Given the description of an element on the screen output the (x, y) to click on. 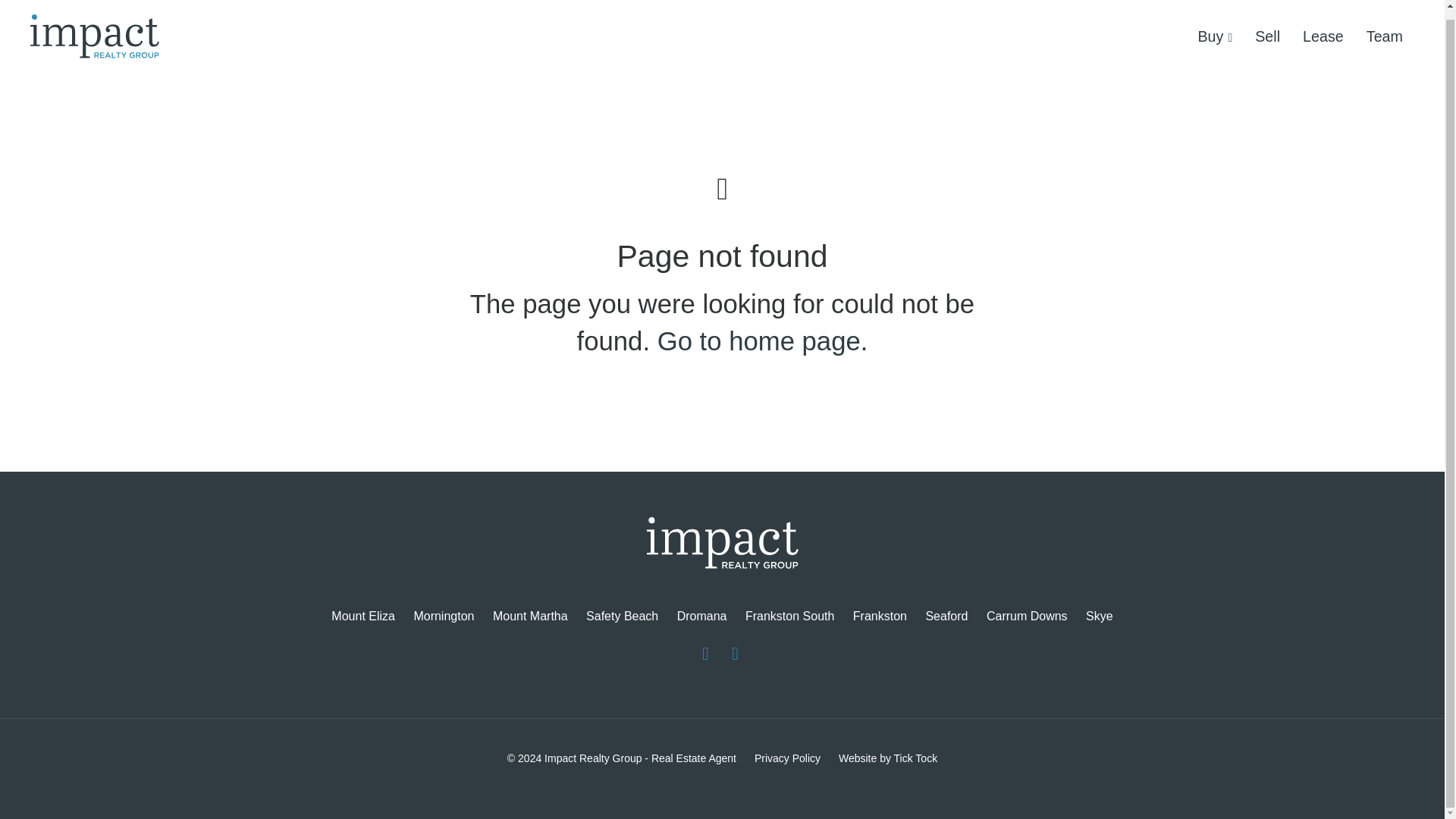
Impact Realty Group (94, 43)
Follow Impact Realty Group - Real Estate Agent on Instagram (734, 653)
Frankston South (789, 616)
Go to home page (759, 340)
Frankston (879, 616)
Impact Realty Group (721, 545)
Website by Tick Tock (887, 758)
Safety Beach (621, 616)
Like Impact Realty Group - Real Estate Agent on Facebook (705, 653)
Mornington (443, 616)
